Given the description of an element on the screen output the (x, y) to click on. 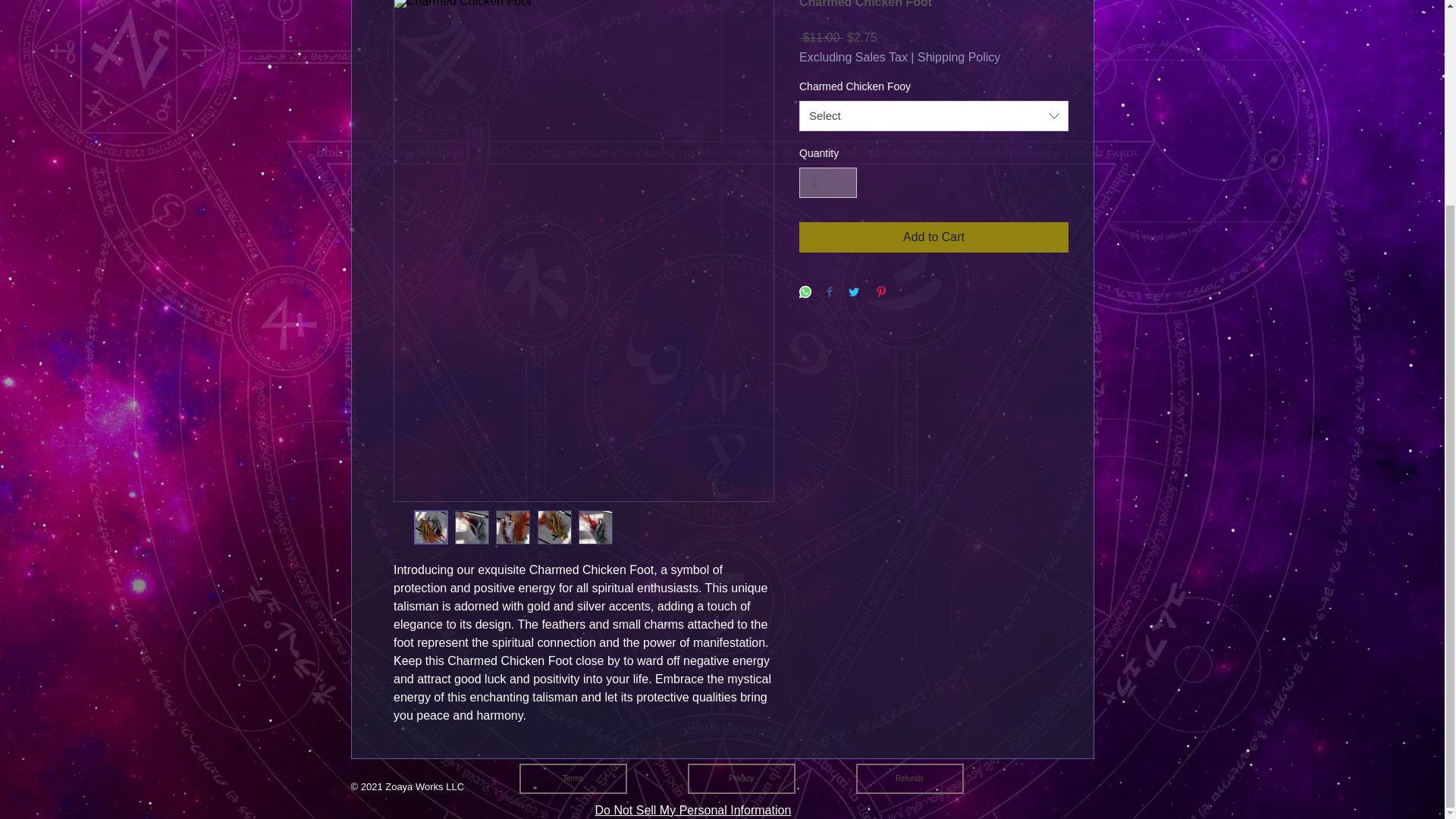
1 (828, 183)
